Given the description of an element on the screen output the (x, y) to click on. 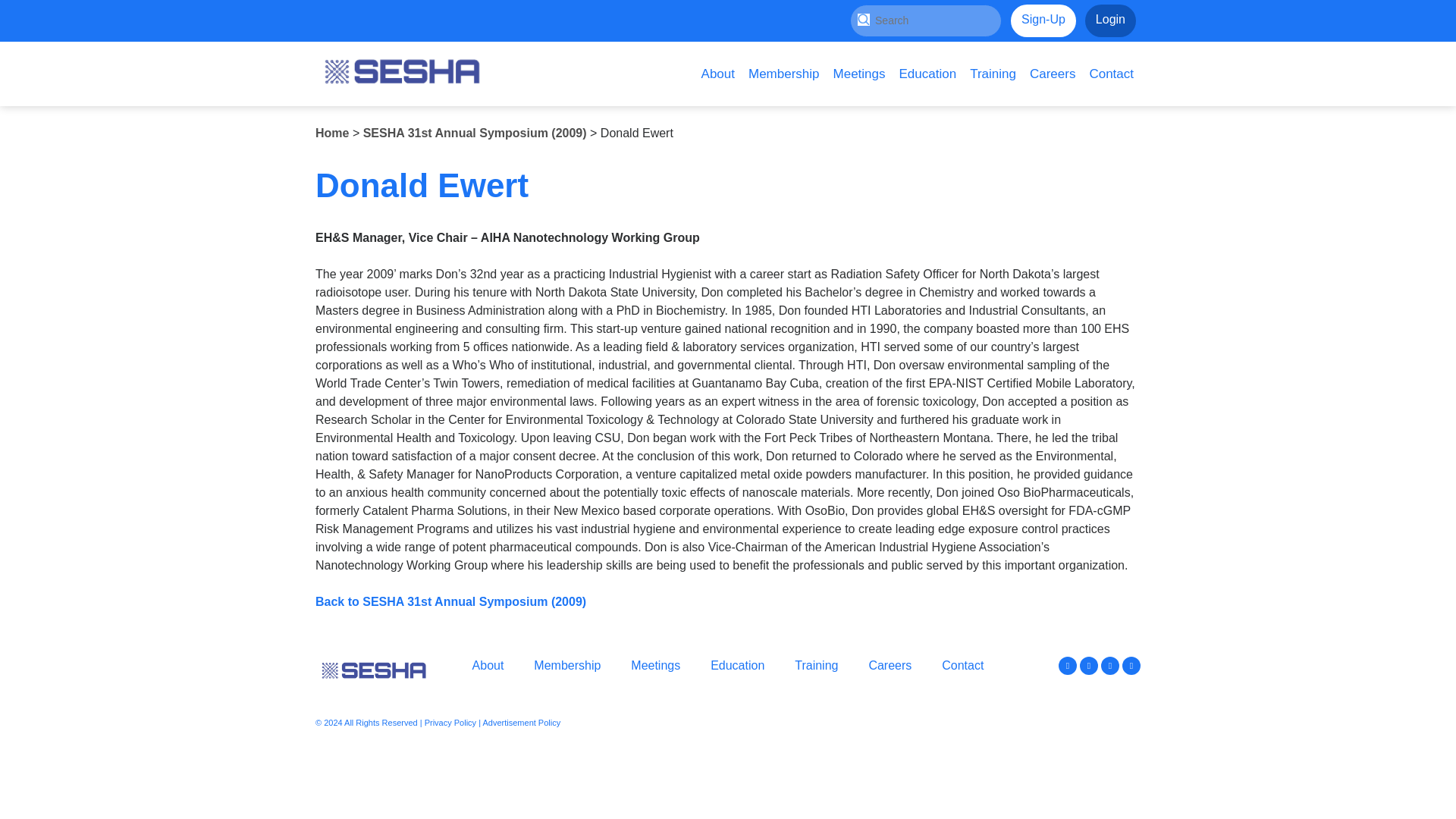
Education (737, 665)
Contact (1110, 74)
About (487, 665)
Login (1109, 20)
Sign-Up (1042, 20)
About (717, 74)
Meetings (859, 74)
Search for: (925, 20)
Membership (784, 74)
Careers (1052, 74)
Education (927, 74)
Training (992, 74)
Membership (566, 665)
Training (816, 665)
Meetings (654, 665)
